Given the description of an element on the screen output the (x, y) to click on. 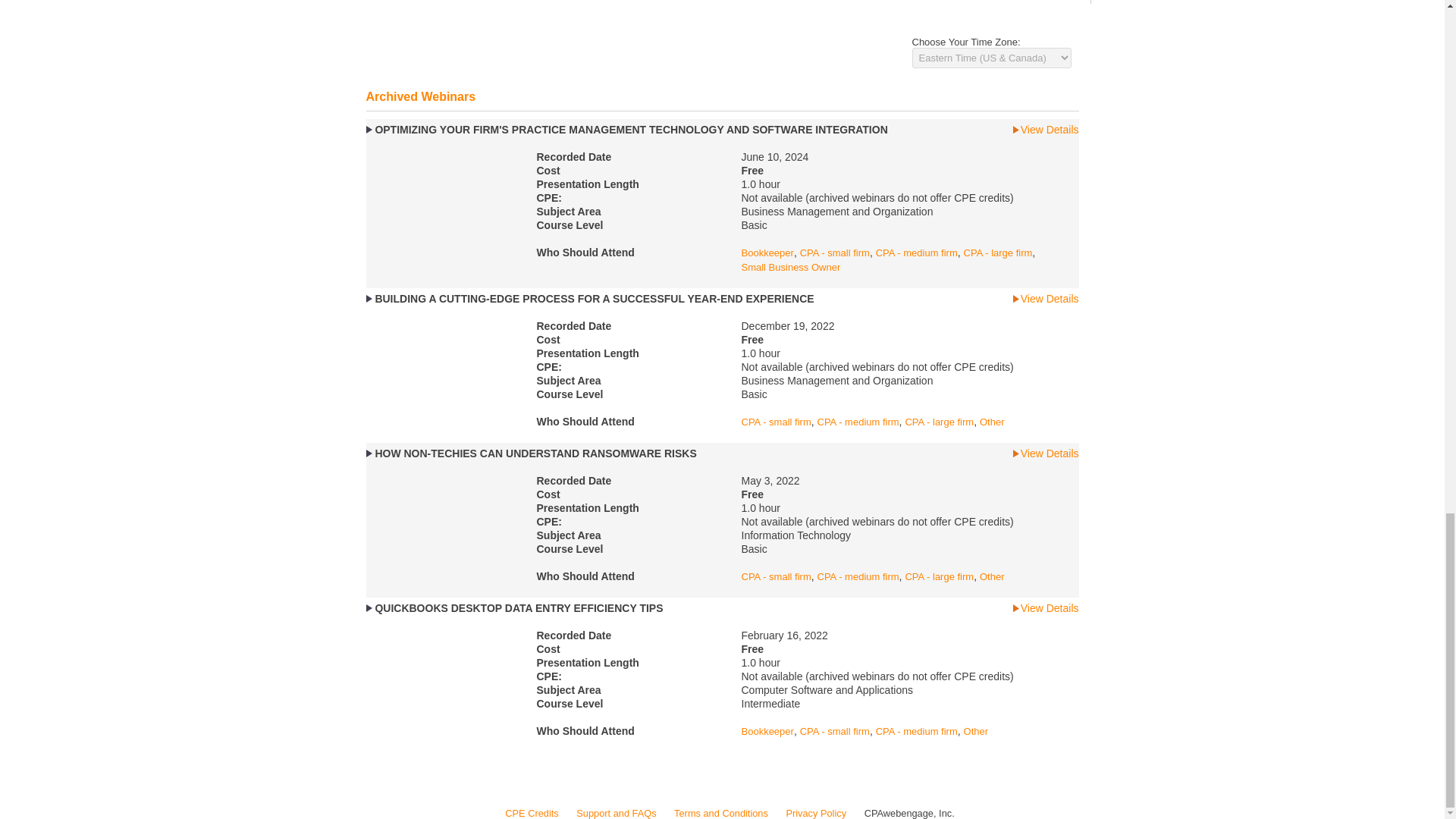
Bookkeeper (767, 252)
CPA - small firm (834, 252)
View Details (1045, 129)
CPA - medium firm (917, 252)
